Given the description of an element on the screen output the (x, y) to click on. 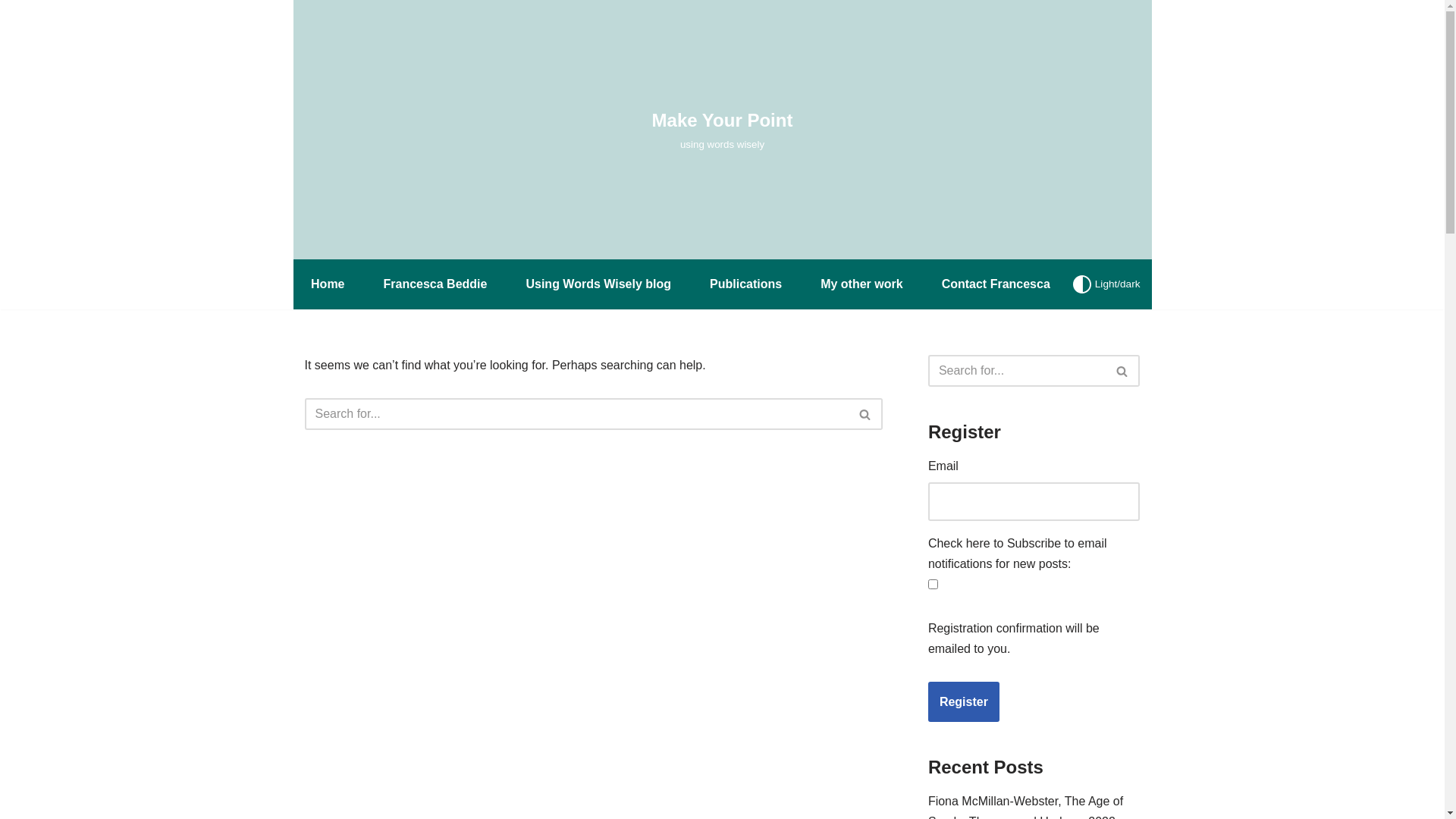
Skip to content Element type: text (11, 31)
Make Your Point
using words wisely Element type: text (722, 129)
My other work Element type: text (861, 284)
Publications Element type: text (745, 284)
Home Element type: text (327, 284)
Using Words Wisely blog Element type: text (598, 284)
Contact Francesca Element type: text (995, 284)
Light/dark Element type: text (1106, 284)
Register Element type: text (963, 701)
Francesca Beddie Element type: text (435, 284)
